Given the description of an element on the screen output the (x, y) to click on. 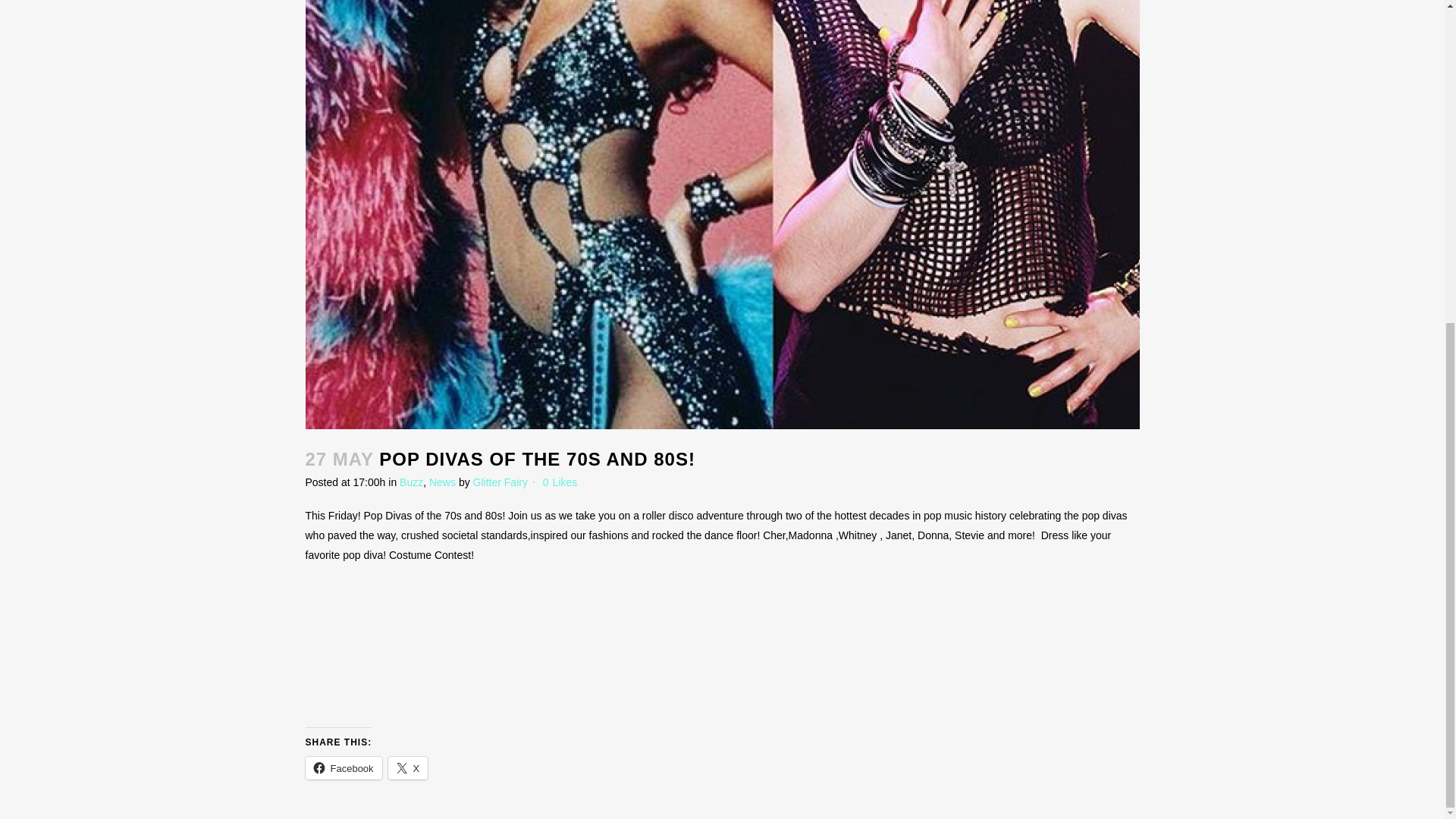
Like this (559, 481)
Click to share on Facebook (342, 767)
Click to share on X (408, 767)
